Given the description of an element on the screen output the (x, y) to click on. 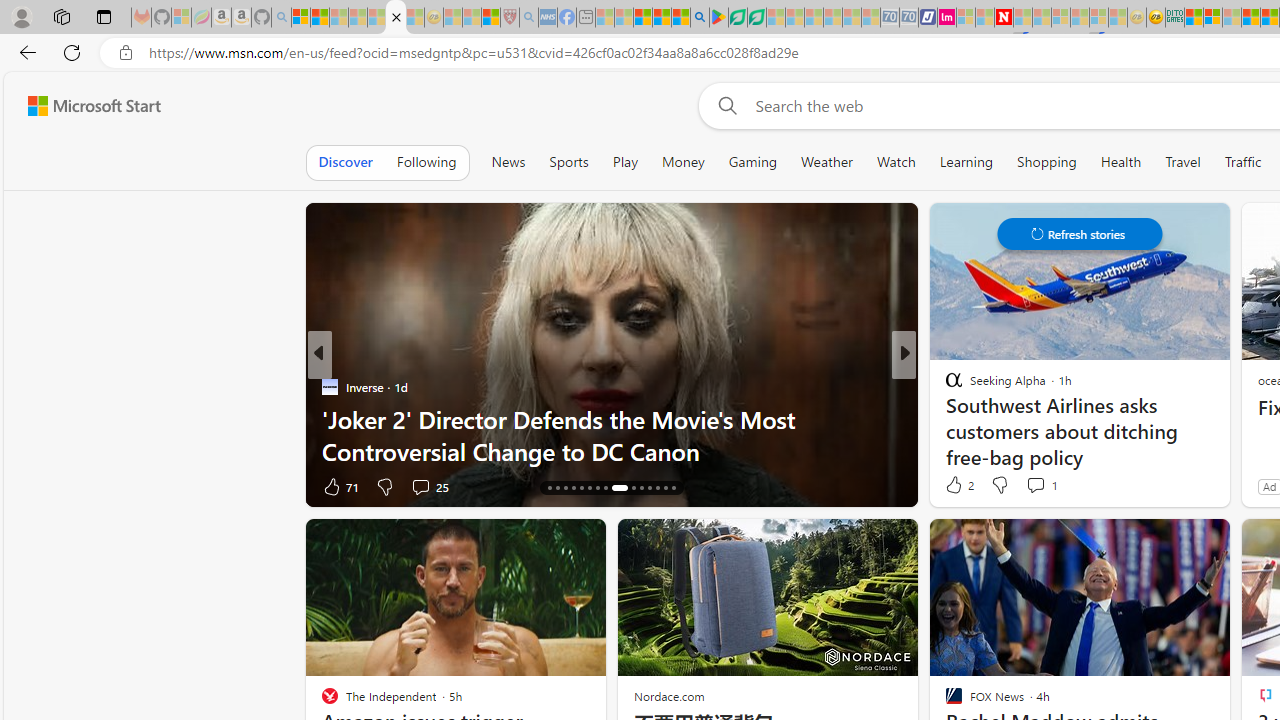
New tab - Sleeping (586, 17)
AutomationID: tab-18 (564, 487)
Nordace.com (669, 696)
google - Search (700, 17)
Allrecipes (944, 386)
AutomationID: tab-19 (573, 487)
Play (625, 161)
See more (1205, 542)
Class: control (1079, 233)
Learning (965, 161)
list of asthma inhalers uk - Search - Sleeping (528, 17)
